Given the description of an element on the screen output the (x, y) to click on. 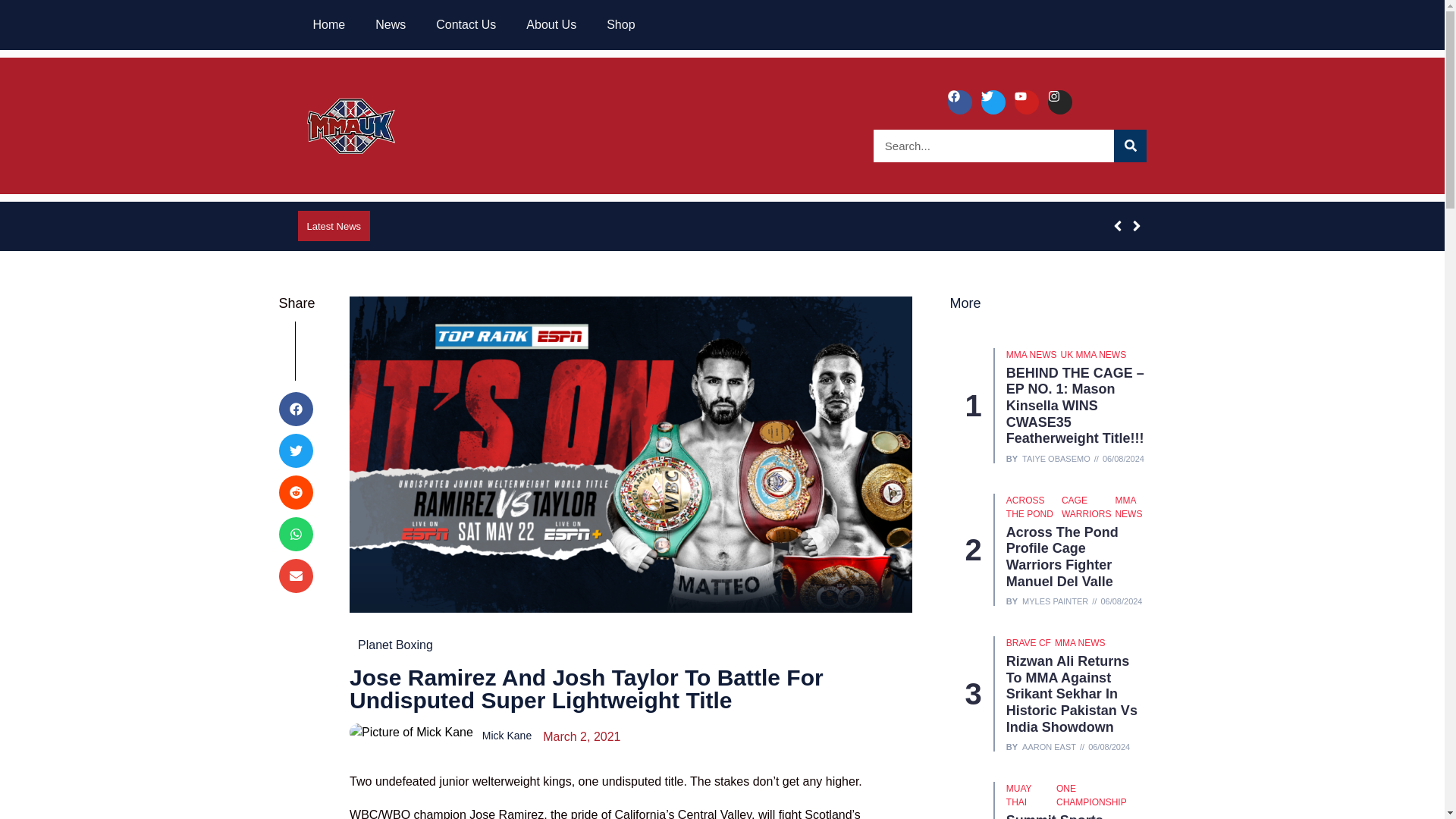
Home (328, 24)
About Us (551, 24)
News (389, 24)
Shop (620, 24)
Contact Us (465, 24)
